Given the description of an element on the screen output the (x, y) to click on. 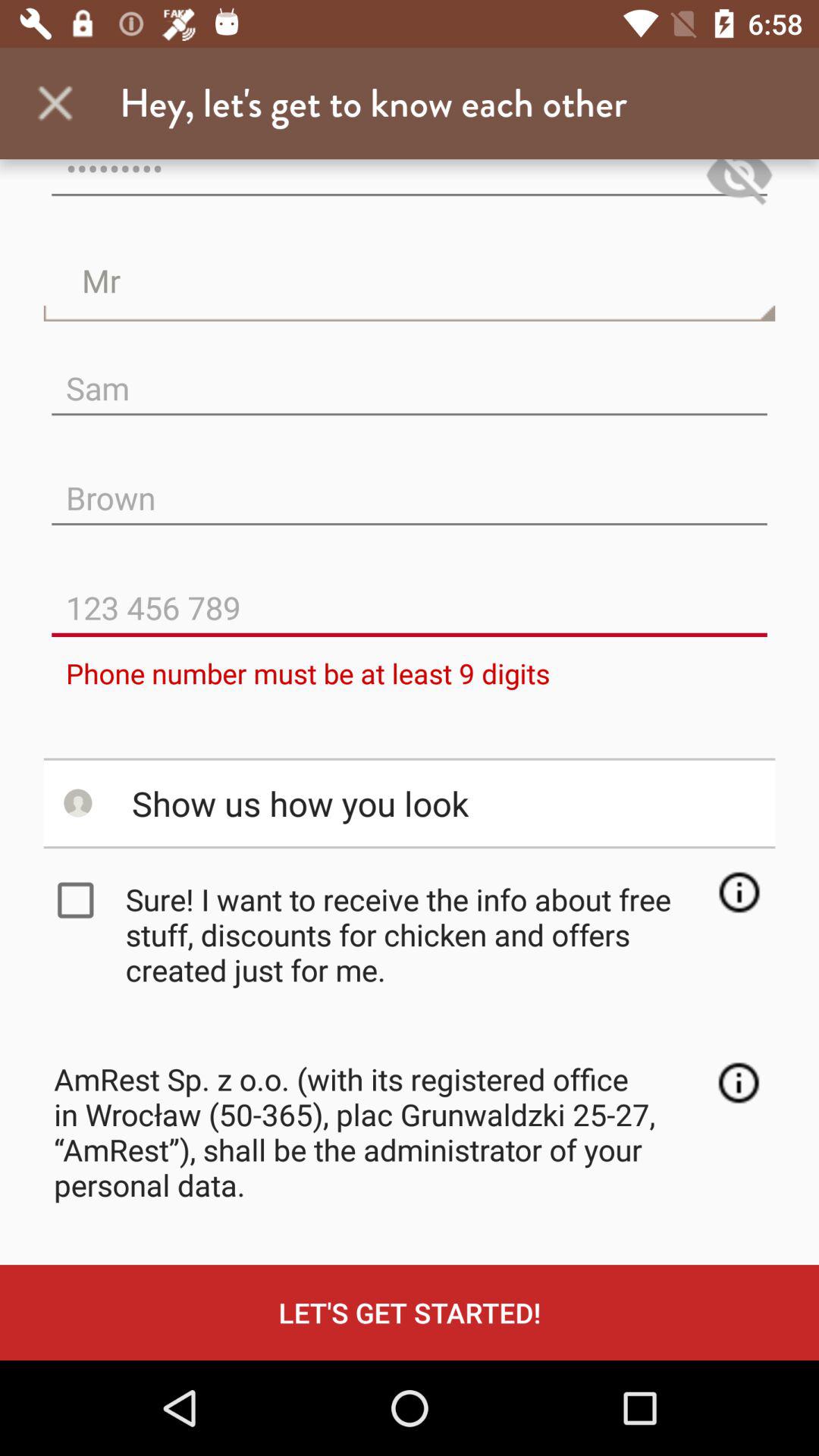
hide writing (739, 185)
